Given the description of an element on the screen output the (x, y) to click on. 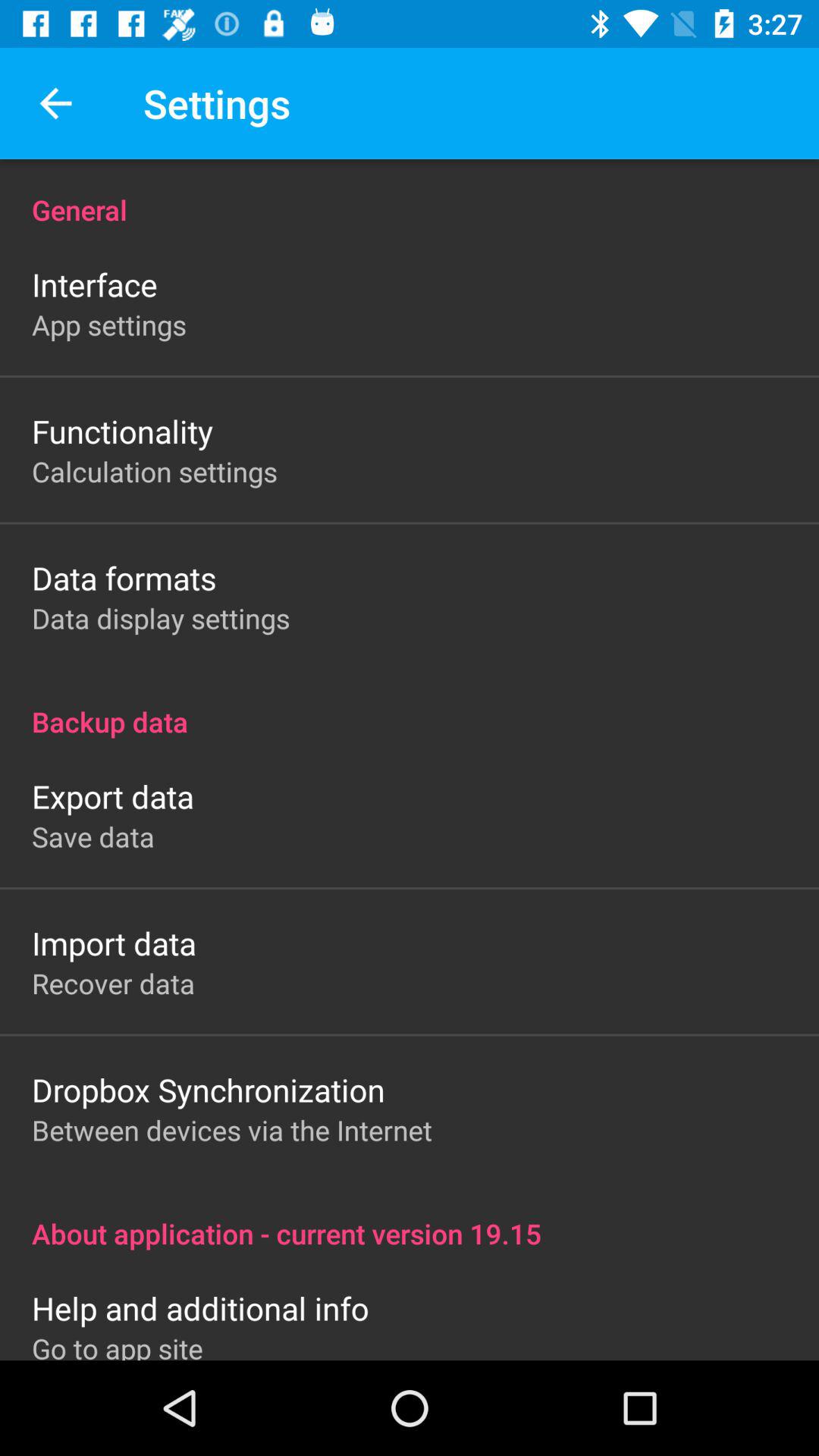
tap recover data (113, 983)
